Given the description of an element on the screen output the (x, y) to click on. 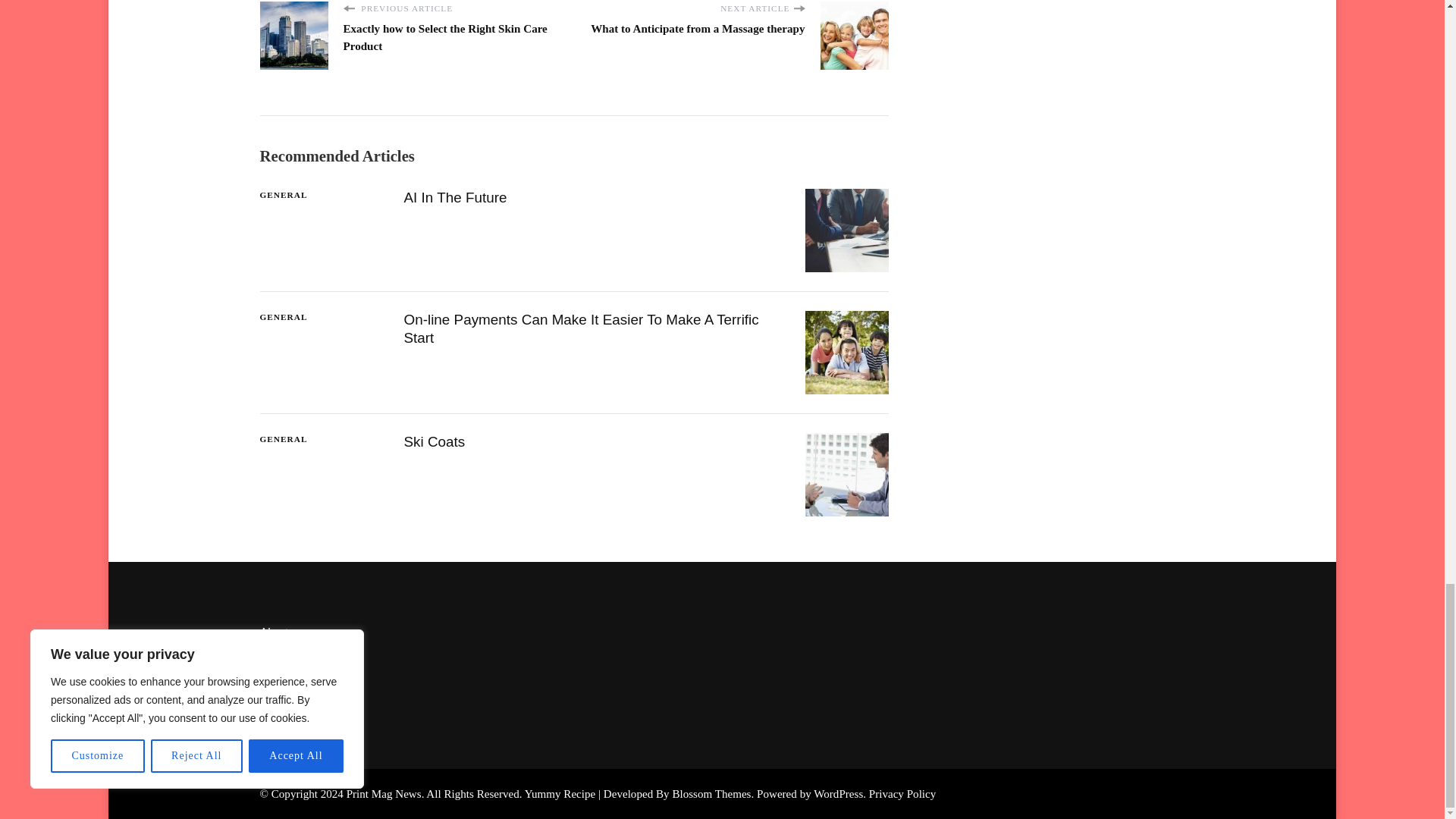
AI In The Future (454, 197)
GENERAL (283, 195)
